Given the description of an element on the screen output the (x, y) to click on. 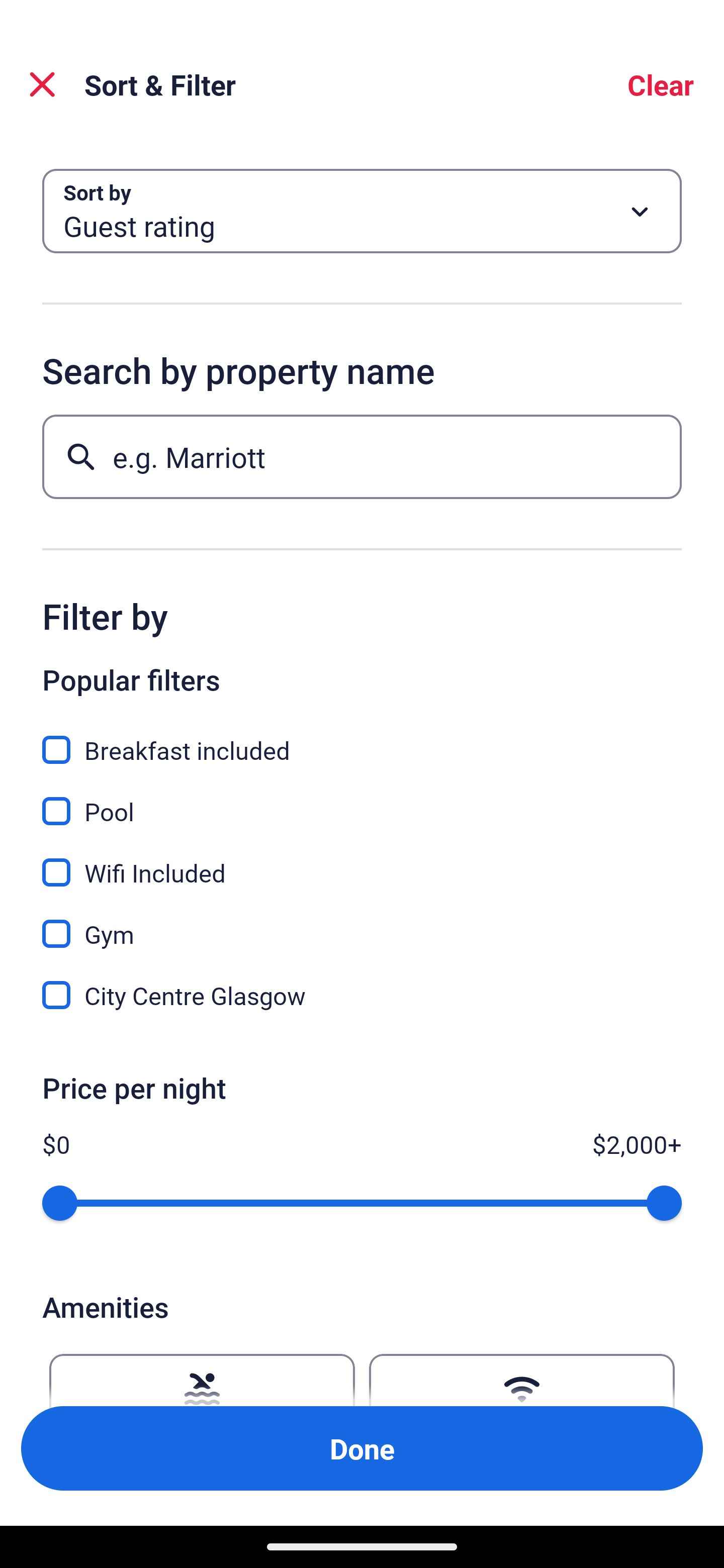
Close Sort and Filter (42, 84)
Clear (660, 84)
Sort by Button Guest rating (361, 211)
e.g. Marriott Button (361, 455)
Breakfast included, Breakfast included (361, 738)
Pool, Pool (361, 800)
Wifi Included, Wifi Included (361, 861)
Gym, Gym (361, 922)
City Centre Glasgow, City Centre Glasgow (361, 995)
Apply and close Sort and Filter Done (361, 1448)
